Given the description of an element on the screen output the (x, y) to click on. 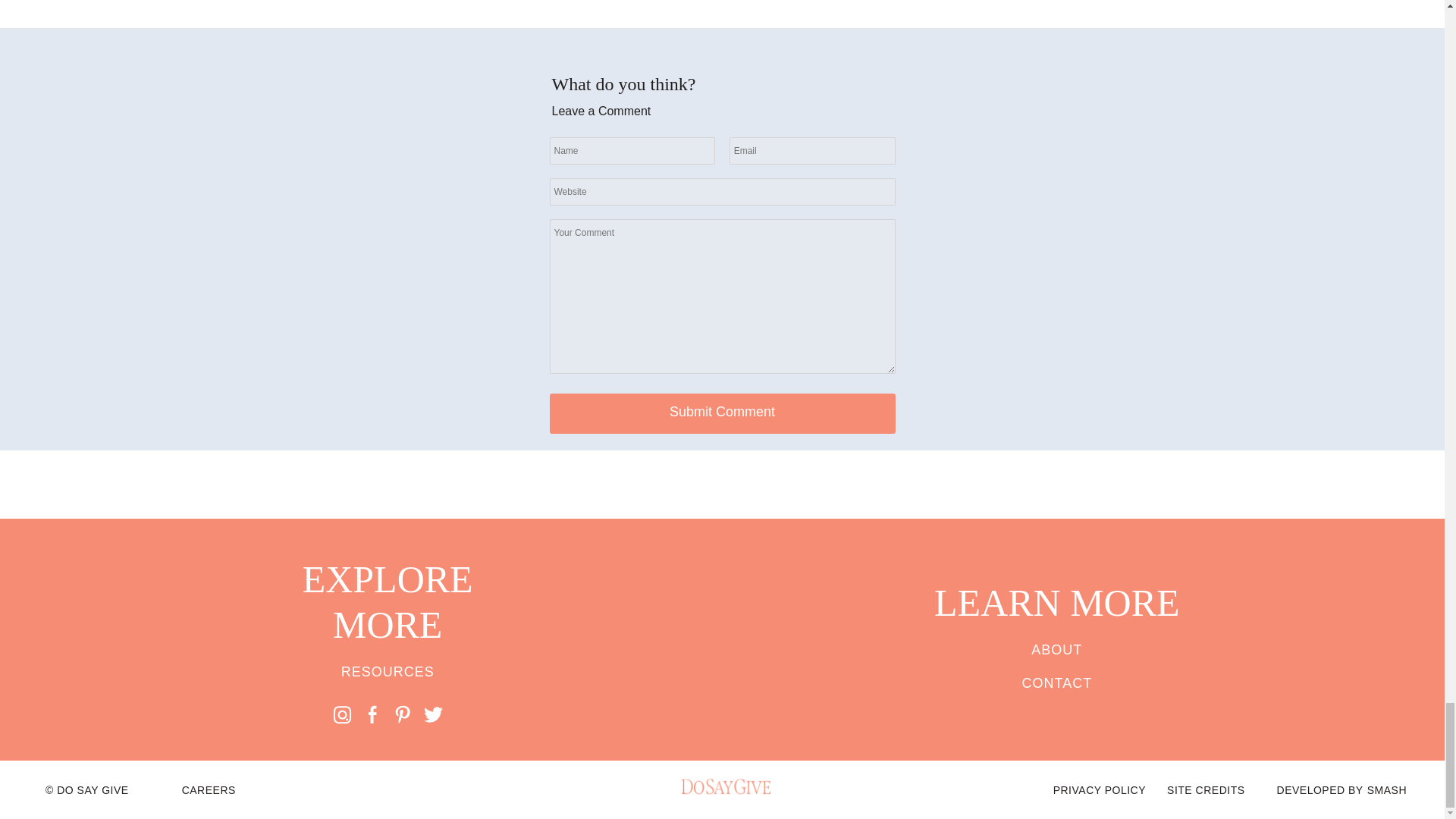
Submit Comment (721, 413)
